Given the description of an element on the screen output the (x, y) to click on. 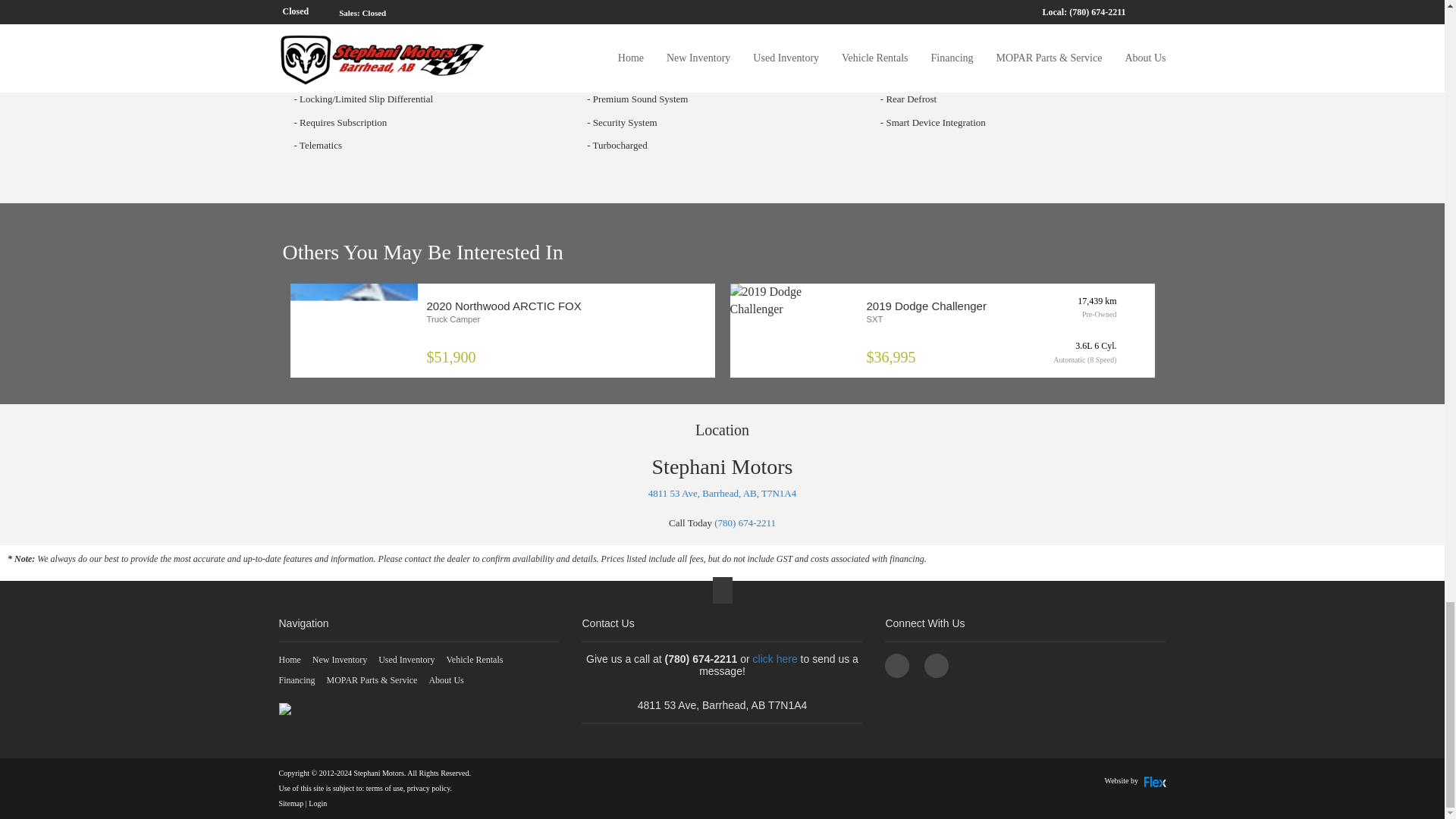
2019 Dodge Challenger (793, 300)
Click to see what Flex can do for you (1135, 780)
Facebook (896, 665)
2020 Northwood ARCTIC FOX (352, 331)
Twitter (936, 665)
